Given the description of an element on the screen output the (x, y) to click on. 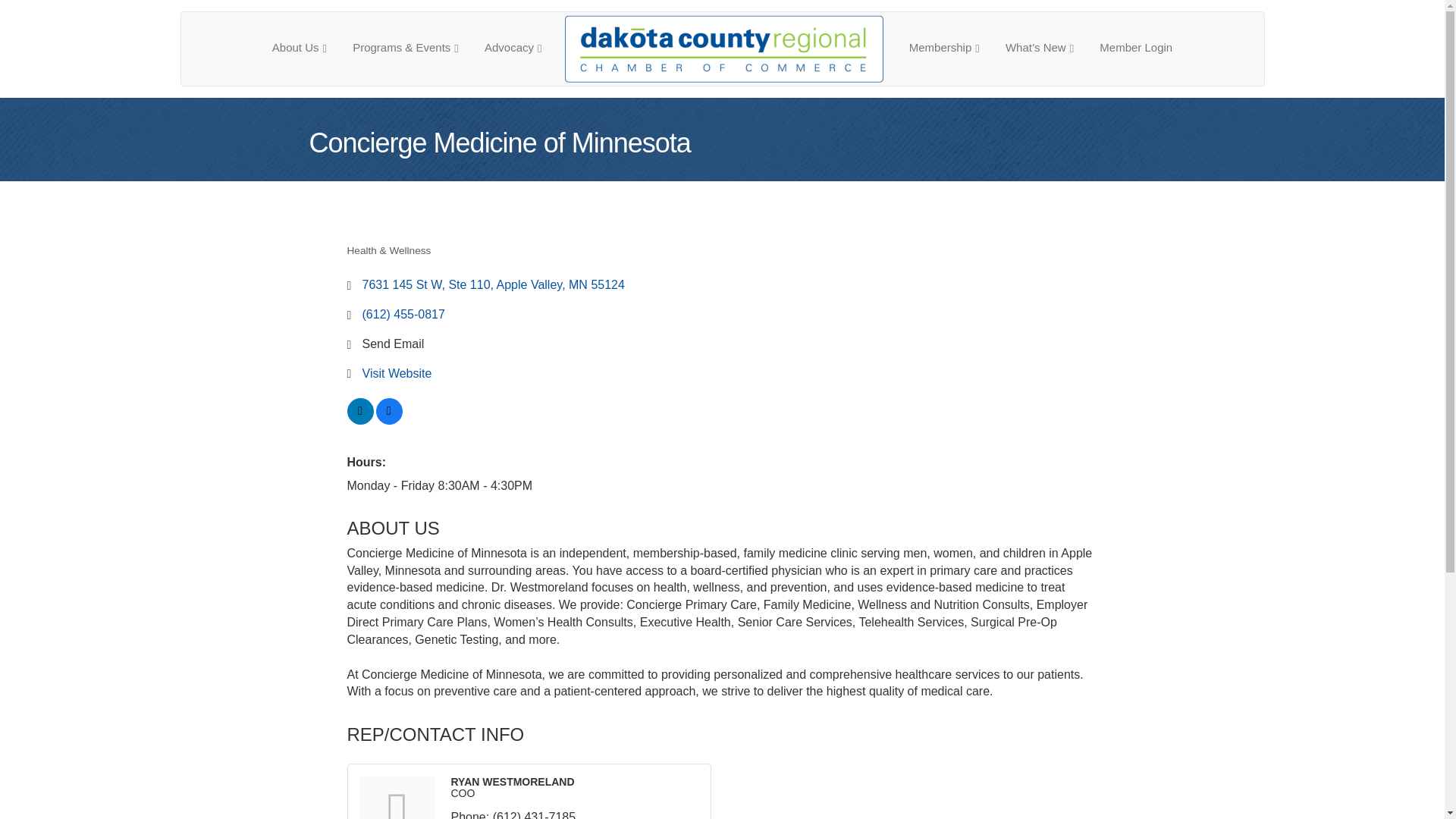
View on Facebook (389, 420)
View on LinkedIn (360, 420)
